Given the description of an element on the screen output the (x, y) to click on. 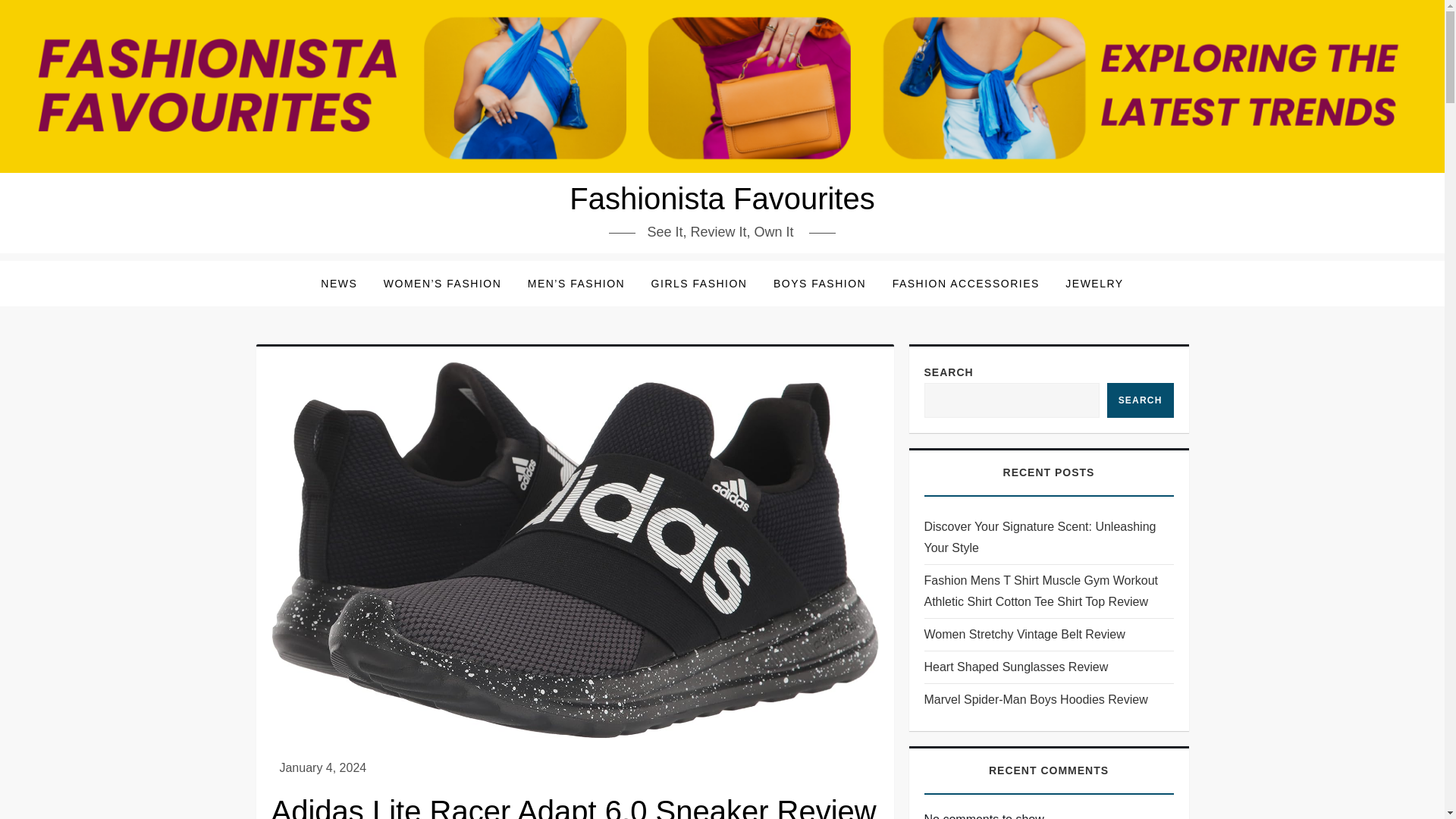
Fashionista Favourites (722, 198)
GIRLS FASHION (699, 283)
FASHION ACCESSORIES (965, 283)
JEWELRY (1094, 283)
NEWS (338, 283)
BOYS FASHION (819, 283)
January 4, 2024 (322, 767)
